Given the description of an element on the screen output the (x, y) to click on. 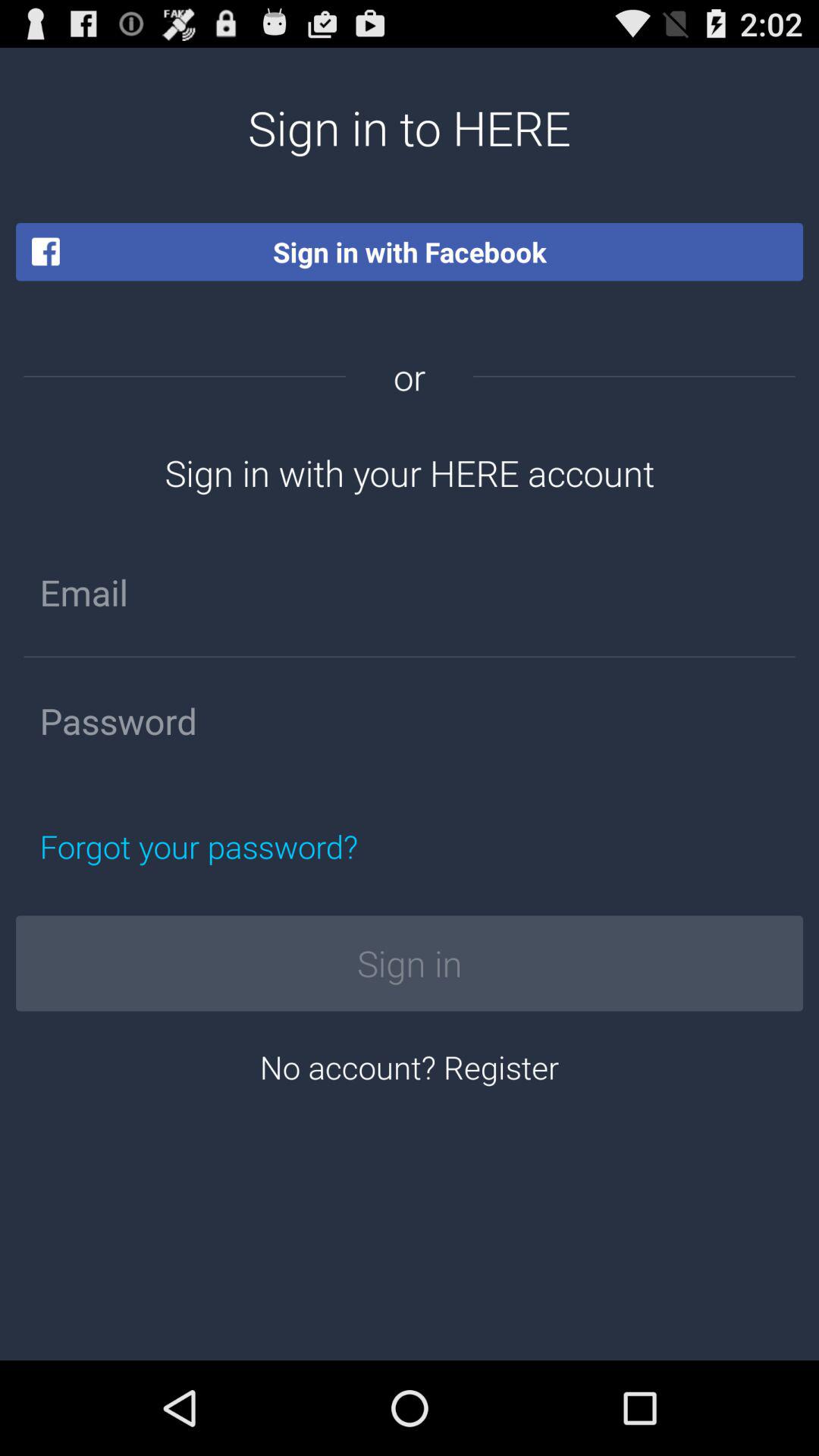
launch the forgot your password? (269, 845)
